Given the description of an element on the screen output the (x, y) to click on. 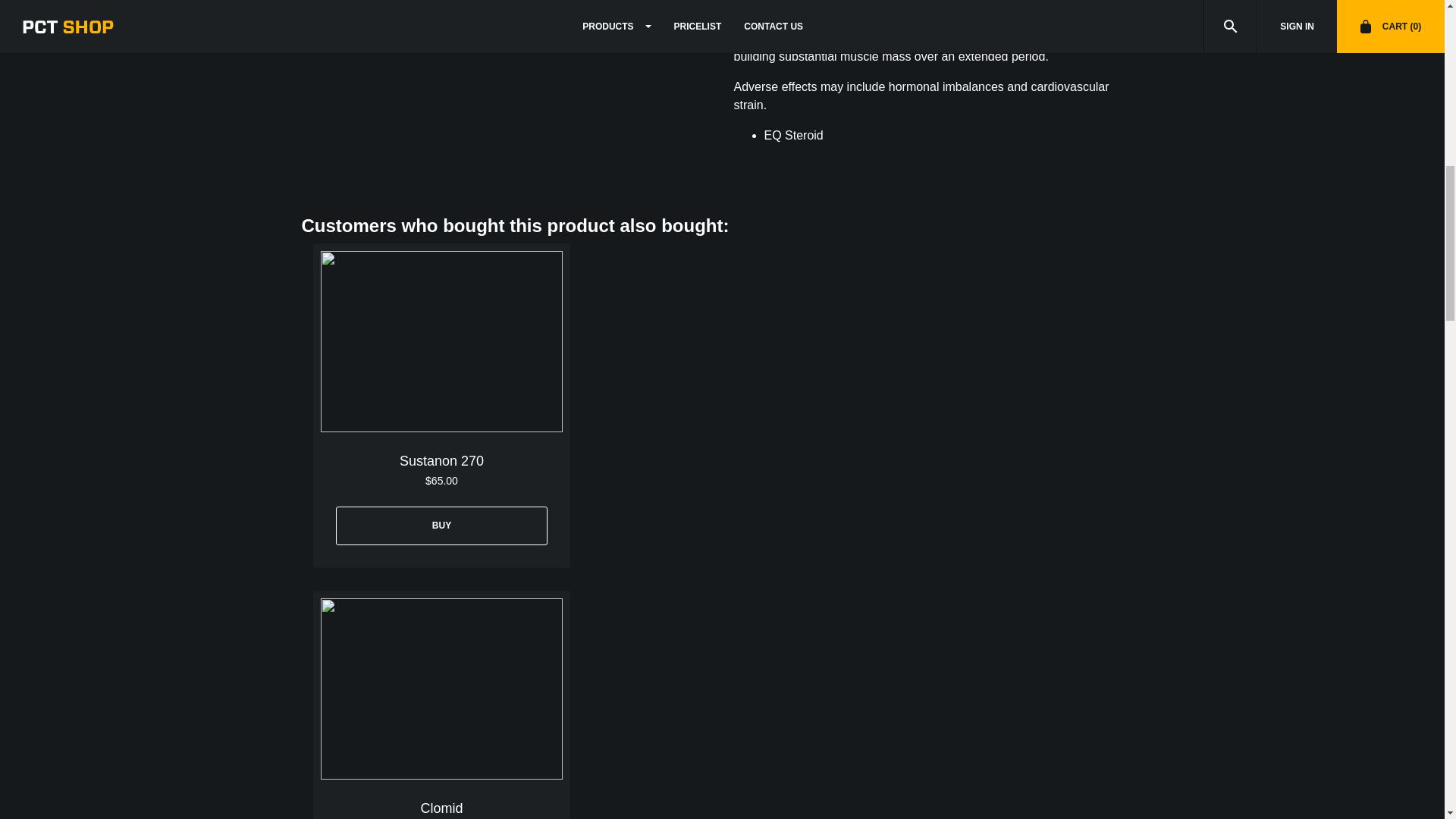
EQ Steroid  (795, 134)
